Given the description of an element on the screen output the (x, y) to click on. 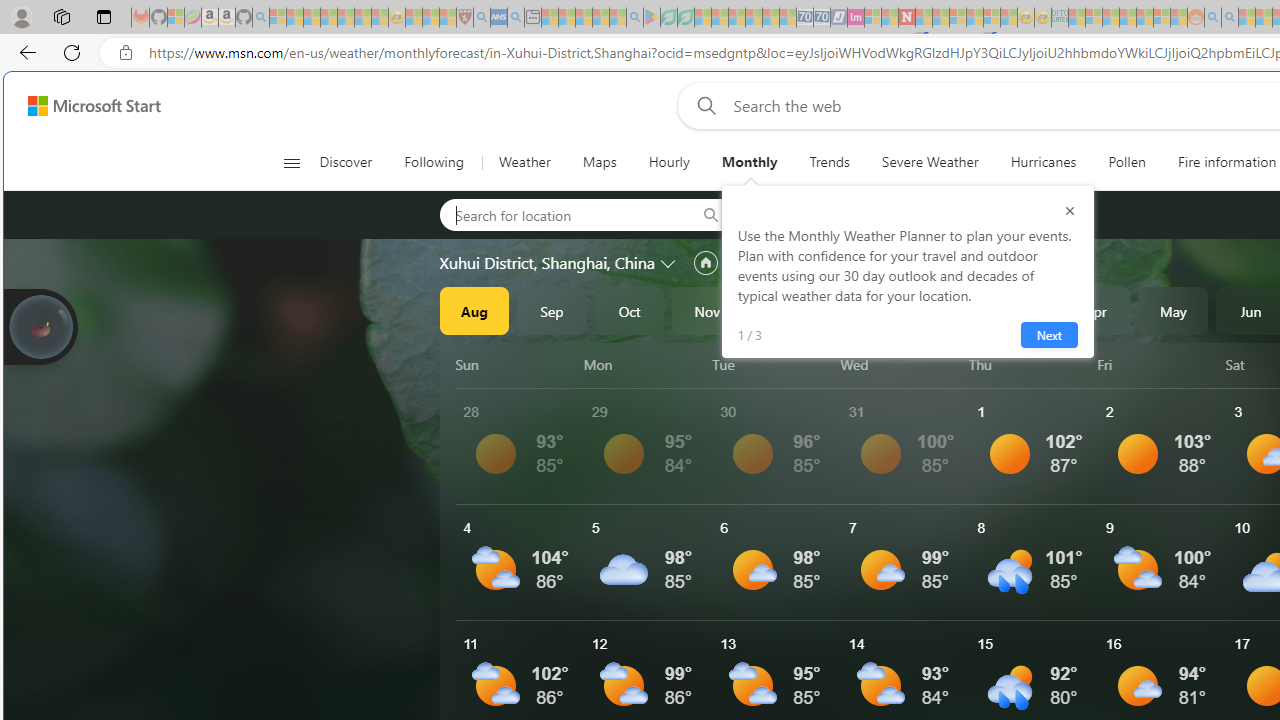
Recipes - MSN - Sleeping (413, 17)
Expert Portfolios - Sleeping (1128, 17)
Next (1048, 334)
Skip to content (86, 105)
Xuhui District, Shanghai, China (547, 263)
utah sues federal government - Search - Sleeping (515, 17)
Fri (1157, 363)
